Given the description of an element on the screen output the (x, y) to click on. 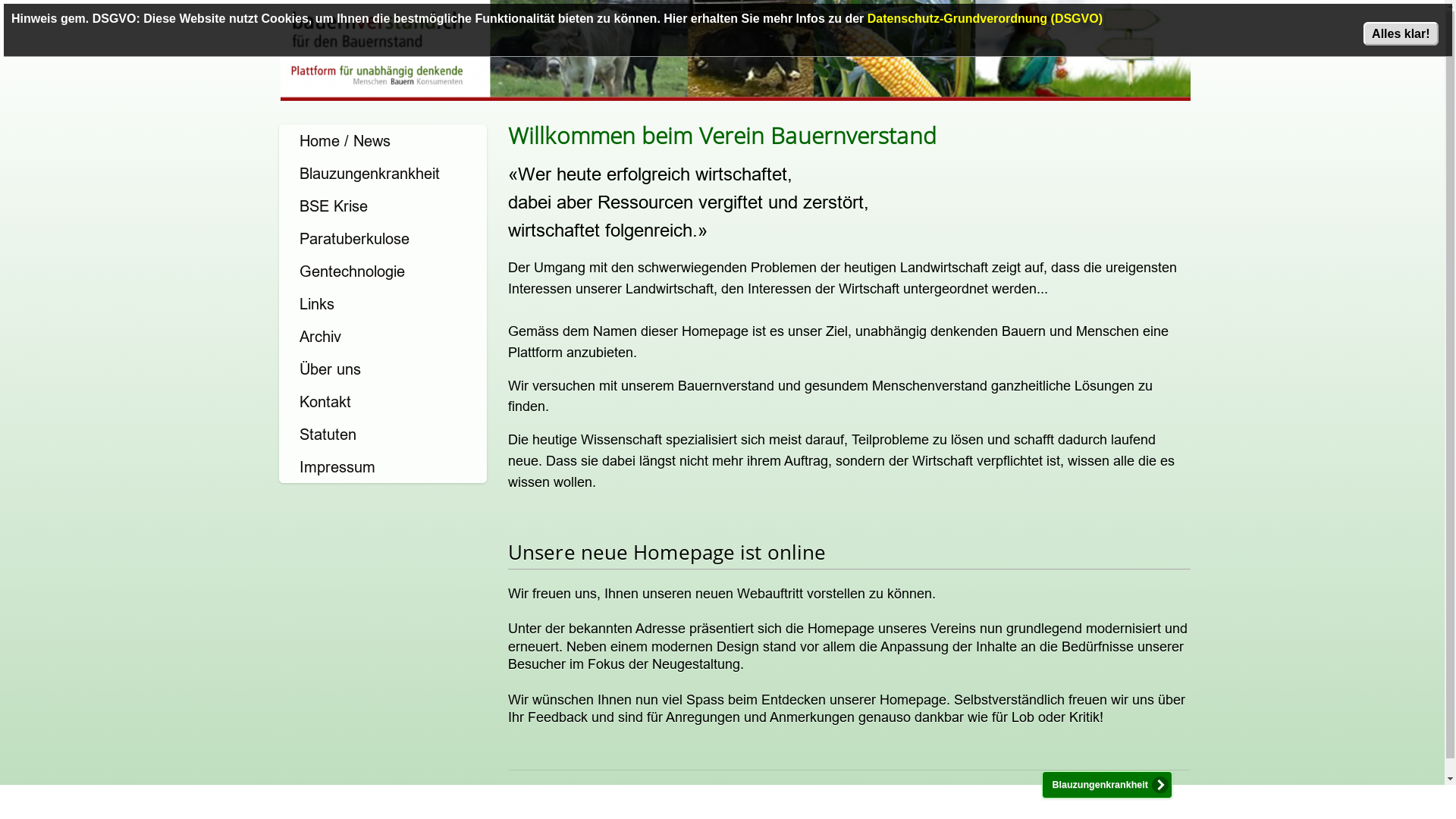
Archiv Element type: text (382, 336)
Blauzungenkrankheit Element type: text (382, 172)
 Alles klar!  Element type: text (1400, 33)
BSE Krise Element type: text (382, 205)
Links Element type: text (382, 303)
Gentechnologie Element type: text (382, 270)
Statuten Element type: text (382, 433)
Home / News Element type: text (382, 140)
Datenschutz-Grundverordnung (DSGVO) Element type: text (984, 18)
Paratuberkulose Element type: text (382, 238)
Blauzungenkrankheit Element type: text (1106, 784)
Impressum Element type: text (382, 466)
Kontakt Element type: text (382, 401)
